Given the description of an element on the screen output the (x, y) to click on. 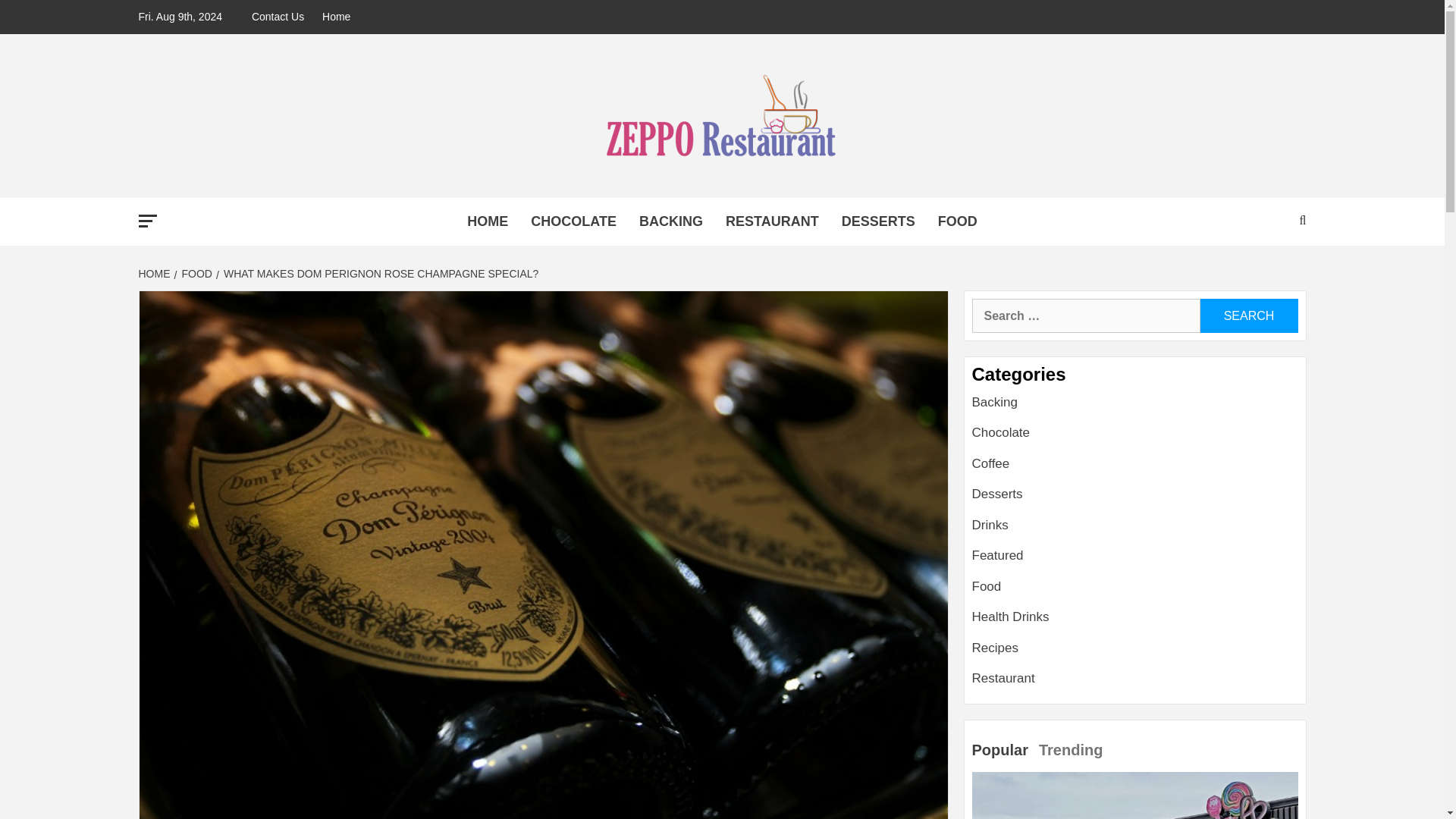
Search (1248, 315)
CHOCOLATE (573, 221)
Drinks (990, 524)
HOME (155, 273)
Restaurant (1003, 677)
BACKING (670, 221)
DESSERTS (877, 221)
Coffee (991, 463)
WHAT MAKES DOM PERIGNON ROSE CHAMPAGNE SPECIAL? (378, 273)
Trending (1072, 750)
